Given the description of an element on the screen output the (x, y) to click on. 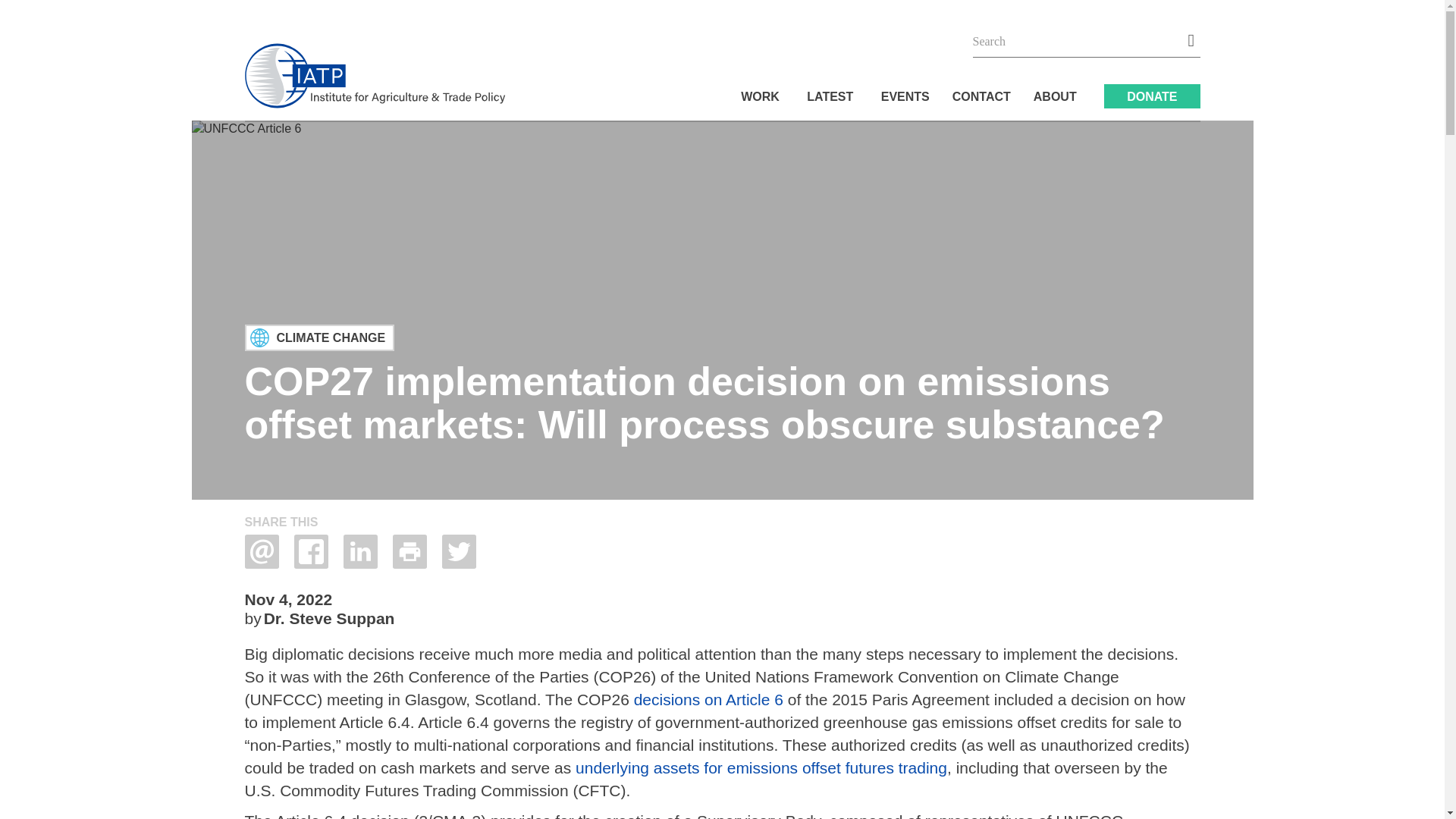
Search (1184, 41)
WORK (762, 96)
